Given the description of an element on the screen output the (x, y) to click on. 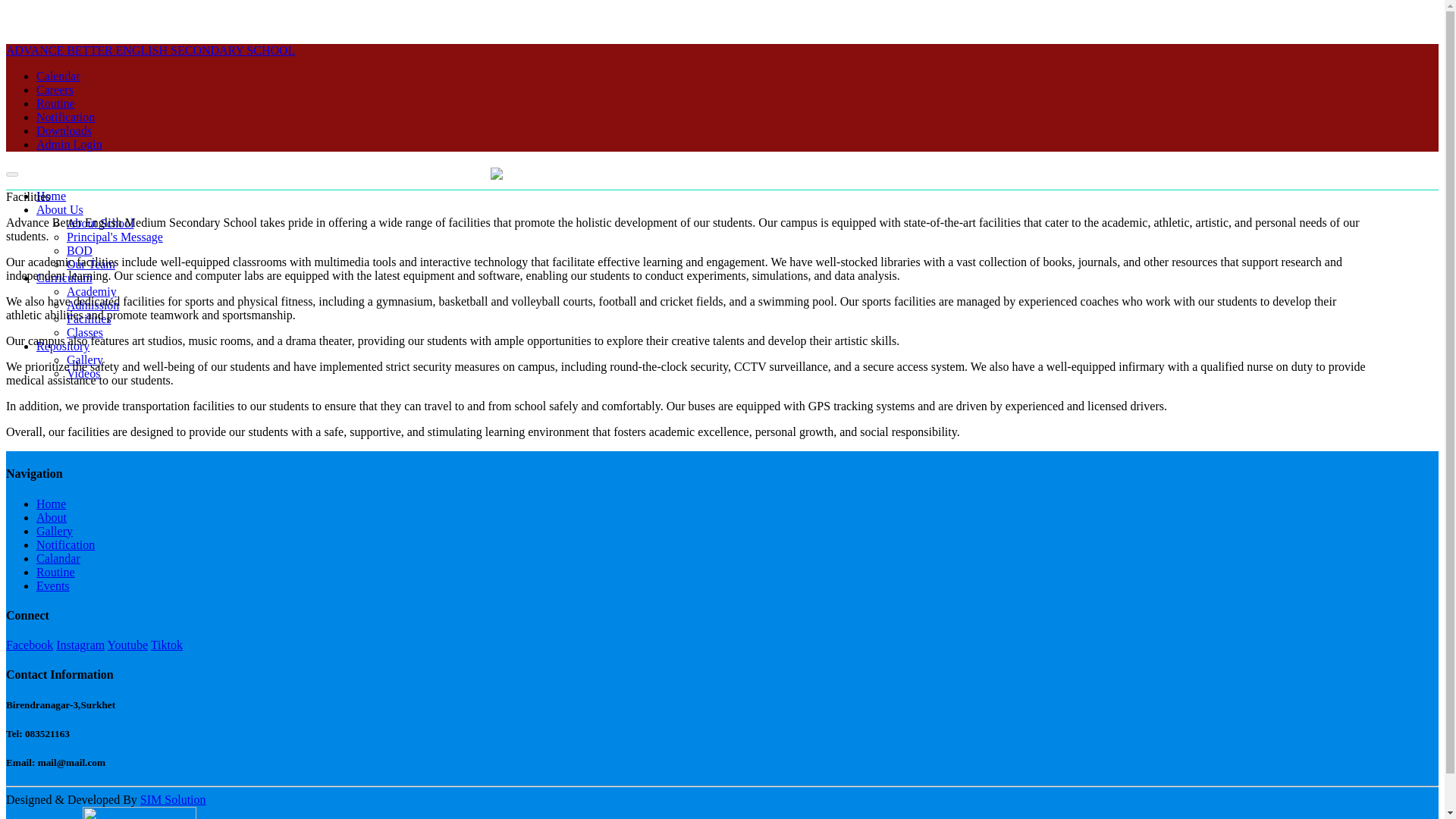
SIM Solution (172, 799)
Instagram (80, 644)
Tiktok (167, 644)
Notification (65, 116)
Classes (84, 332)
BOD (79, 250)
About (51, 517)
Calendar (58, 75)
Downloads (63, 130)
Facilities (89, 318)
About Us (59, 209)
Academiy (91, 291)
Home (50, 503)
Events (52, 585)
Principal's Message (114, 236)
